Given the description of an element on the screen output the (x, y) to click on. 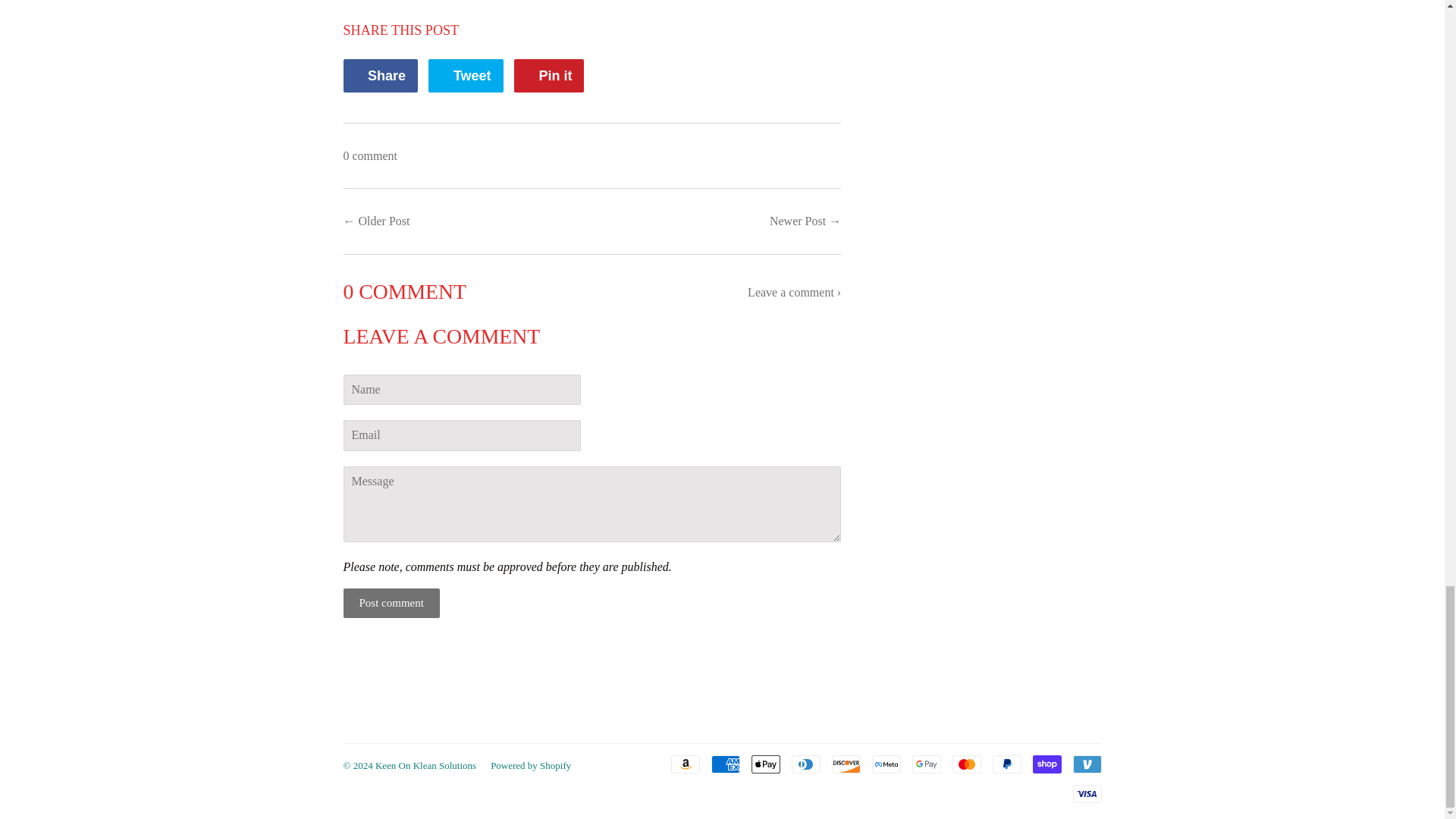
0 comment (369, 155)
Pin on Pinterest (548, 75)
Post comment (548, 75)
Shop Pay (390, 603)
Apple Pay (1046, 764)
Amazon (764, 764)
Discover (683, 764)
Share on Facebook (845, 764)
PayPal (379, 75)
